Given the description of an element on the screen output the (x, y) to click on. 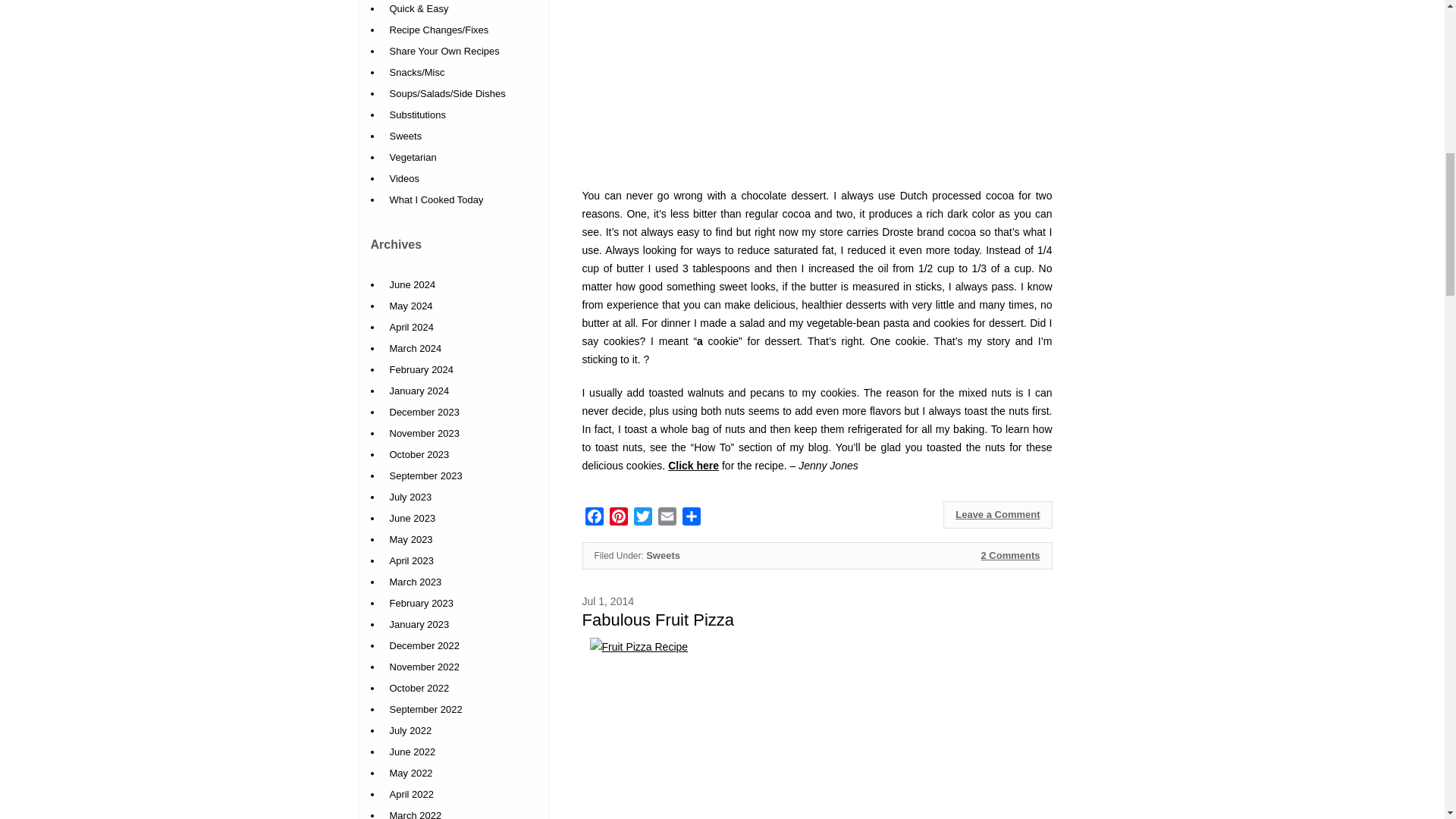
Facebook (594, 518)
Pinterest (618, 518)
Share (691, 518)
Fruit Pizza recipe from Jenny Jones (817, 728)
Email (667, 518)
Twitter (642, 518)
Sweets (662, 555)
Facebook (594, 518)
Leave a Comment (997, 514)
Click here (693, 465)
Email (667, 518)
Pinterest (618, 518)
Twitter (642, 518)
Double Chocolate Cookies recipe from Jenny Jones (693, 465)
